Given the description of an element on the screen output the (x, y) to click on. 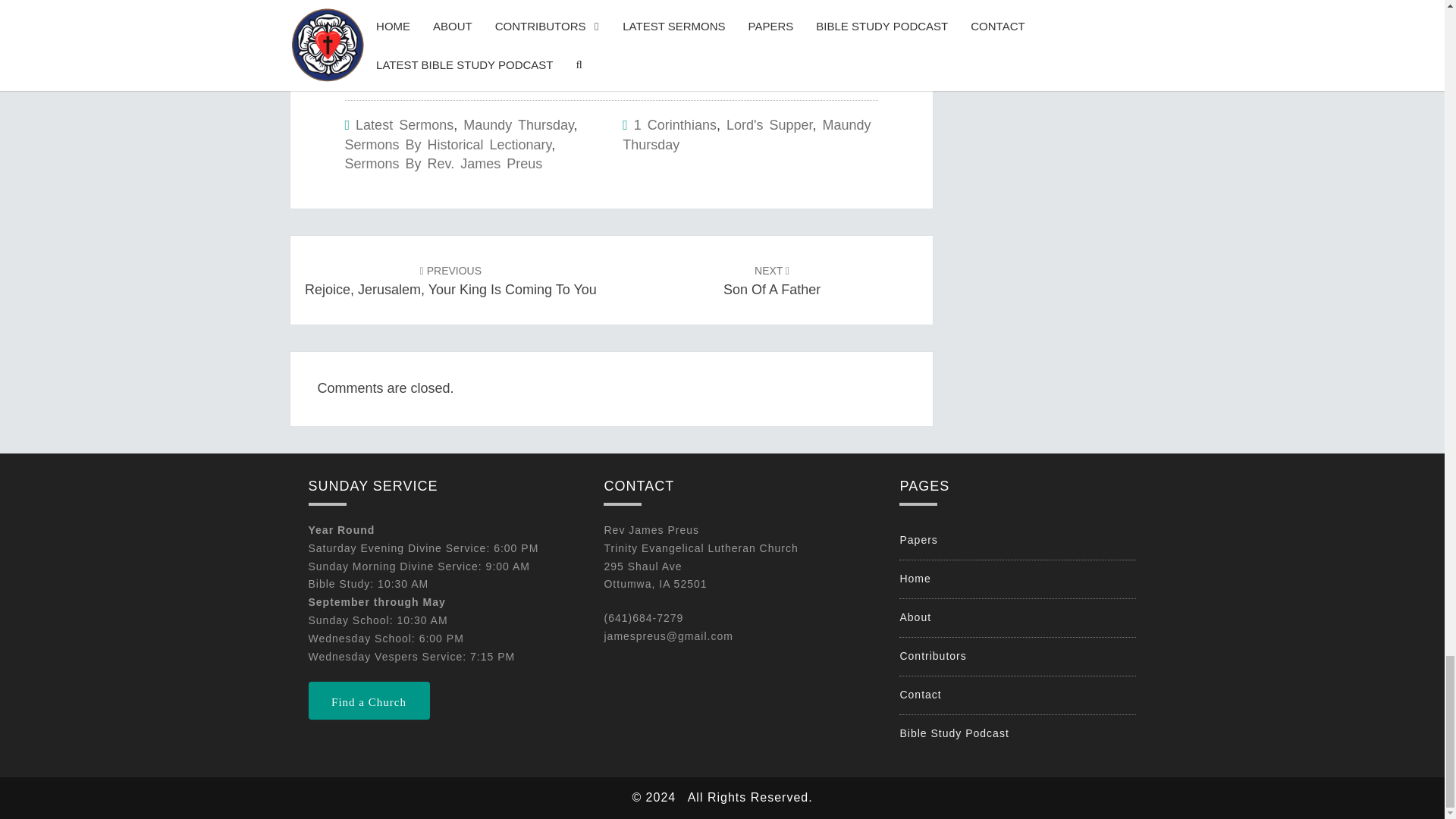
Maundy Thursday (518, 124)
Maundy Thursday (746, 134)
Sermons By Historical Lectionary (447, 144)
Sermons By Rev. James Preus (442, 163)
Latest Sermons (403, 124)
1 Corinthians (772, 279)
Lord'S Supper (450, 279)
